Given the description of an element on the screen output the (x, y) to click on. 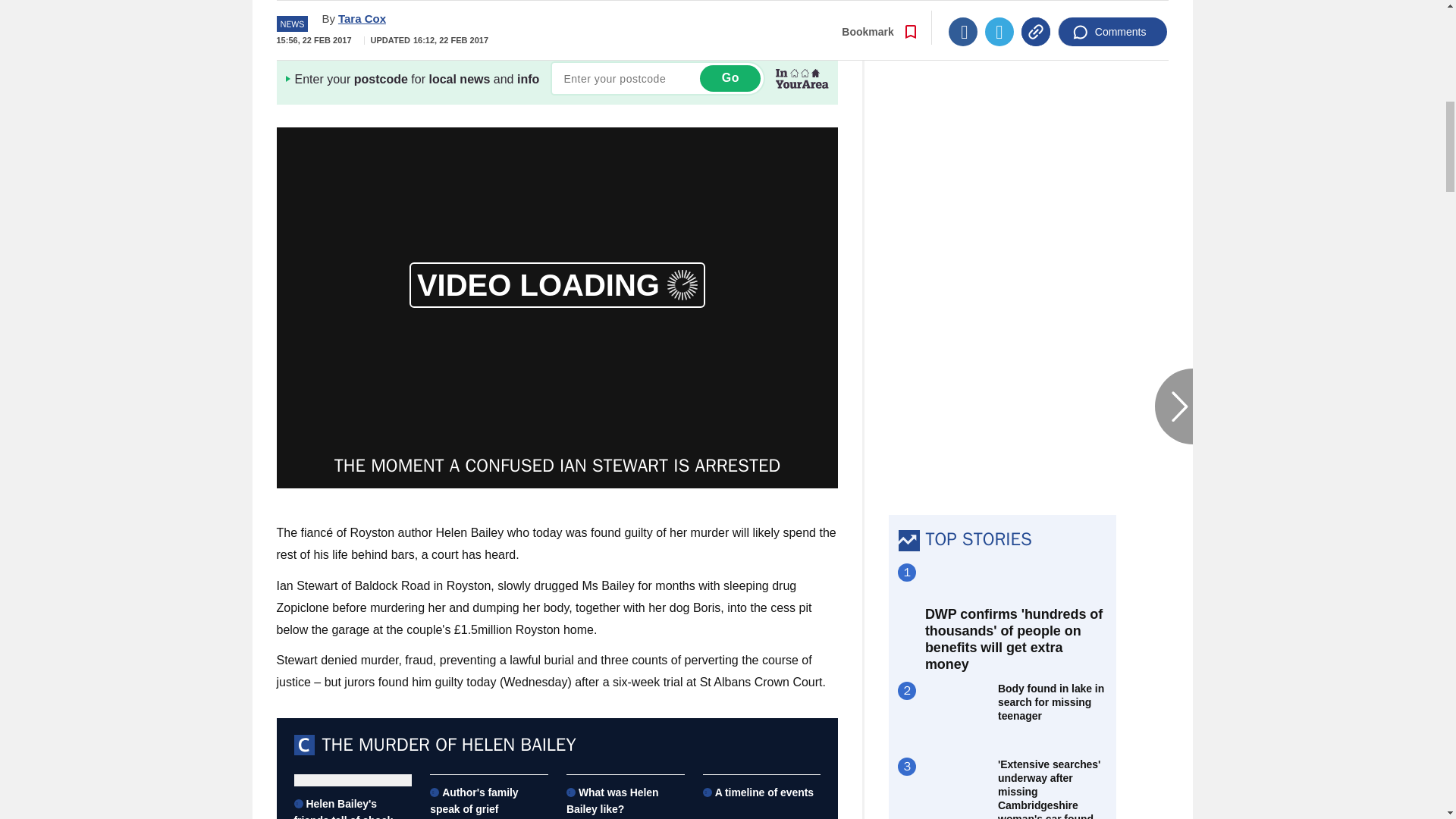
Facebook (962, 10)
Go (730, 78)
Comments (1112, 10)
Twitter (999, 10)
